Given the description of an element on the screen output the (x, y) to click on. 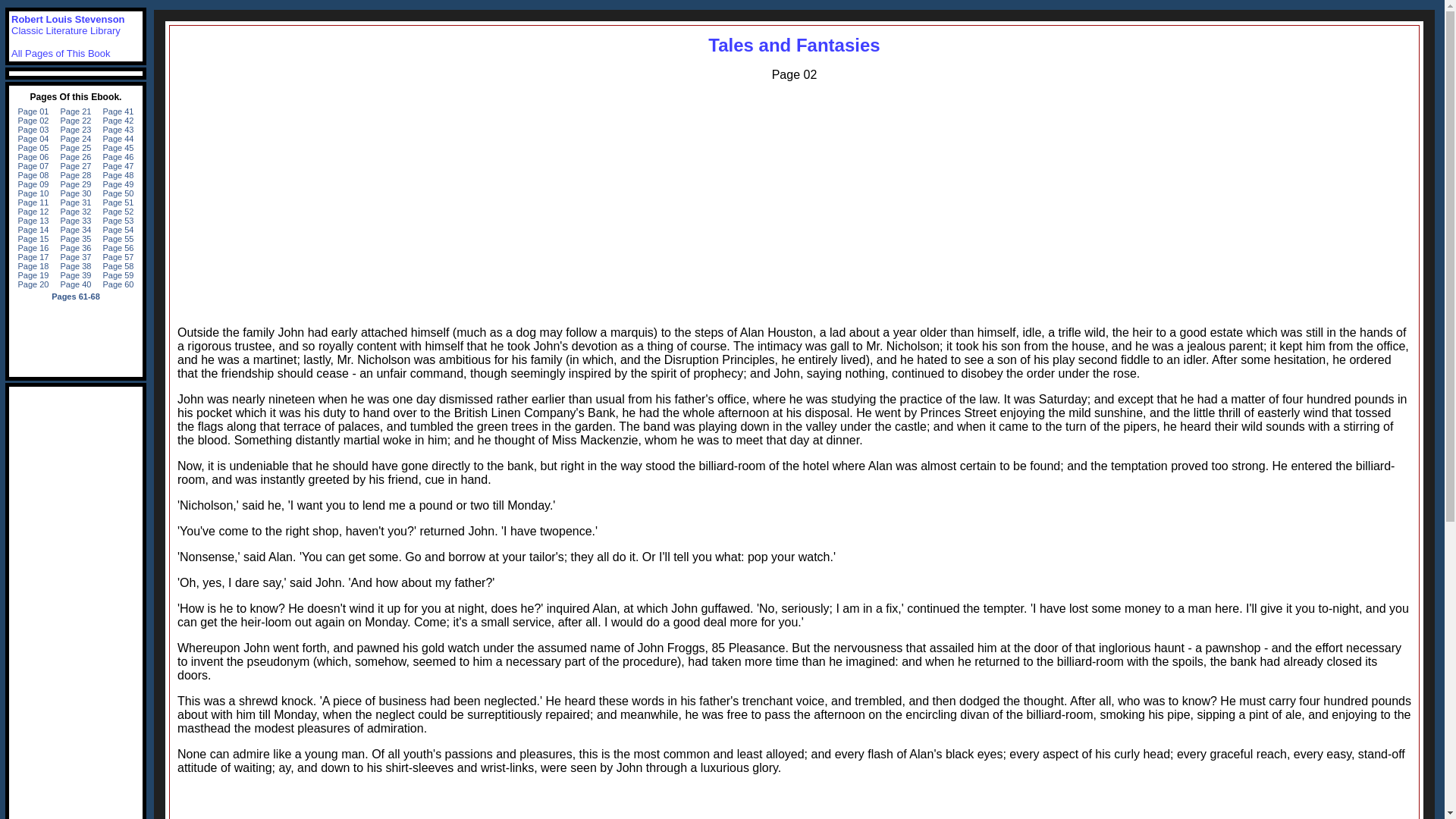
Advertisement (794, 803)
All Pages of This Book (60, 52)
Robert Louis Stevenson (68, 19)
Tales and Fantasies (793, 45)
Classic Literature Library (65, 30)
